Given the description of an element on the screen output the (x, y) to click on. 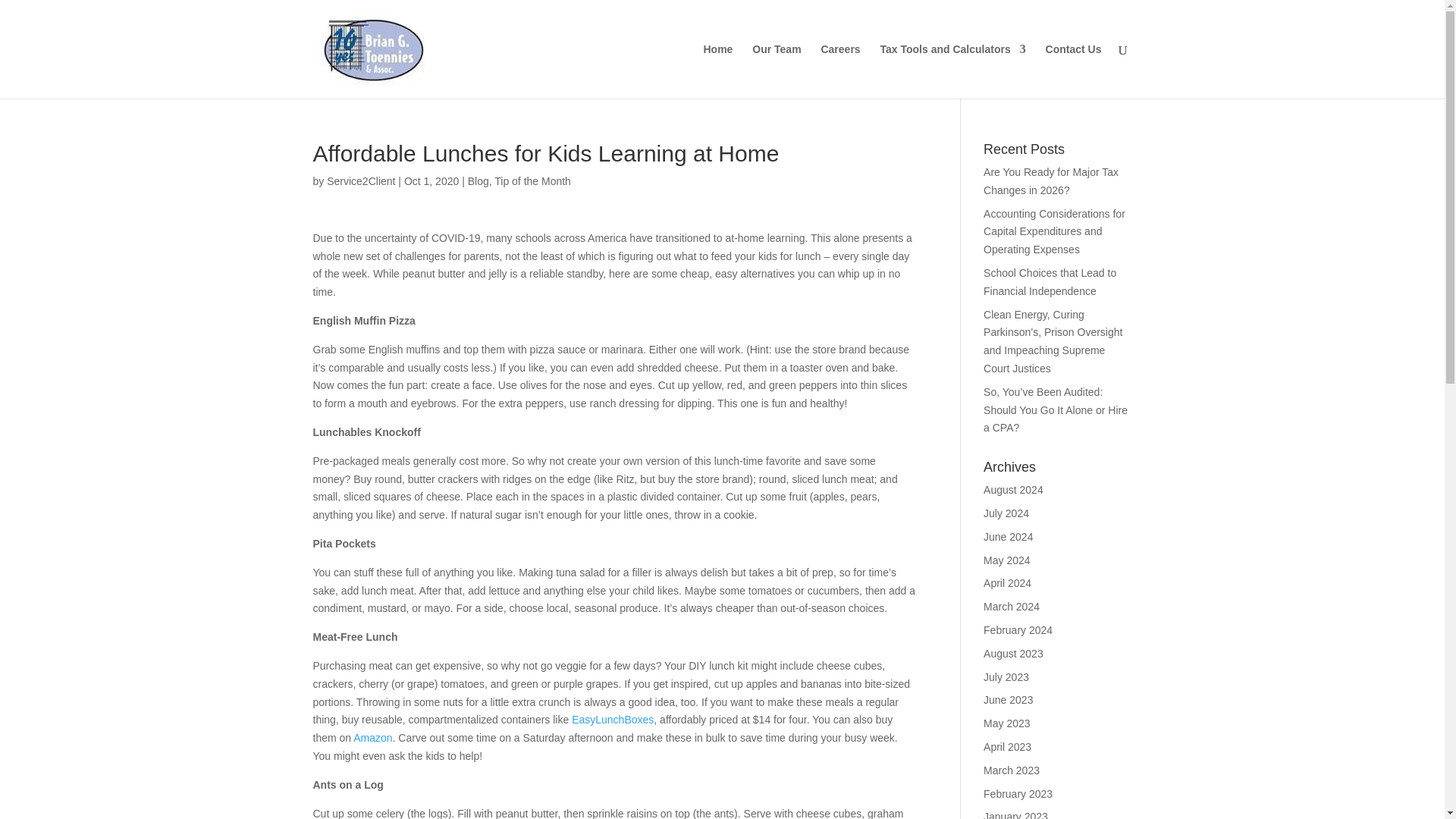
Amazon (372, 737)
Tip of the Month (532, 181)
EasyLunchBoxes (612, 719)
Tax Tools and Calculators (953, 71)
Contact Us (1073, 71)
Service2Client (360, 181)
Are You Ready for Major Tax Changes in 2026? (1051, 181)
Blog (478, 181)
Posts by Service2Client (360, 181)
